Given the description of an element on the screen output the (x, y) to click on. 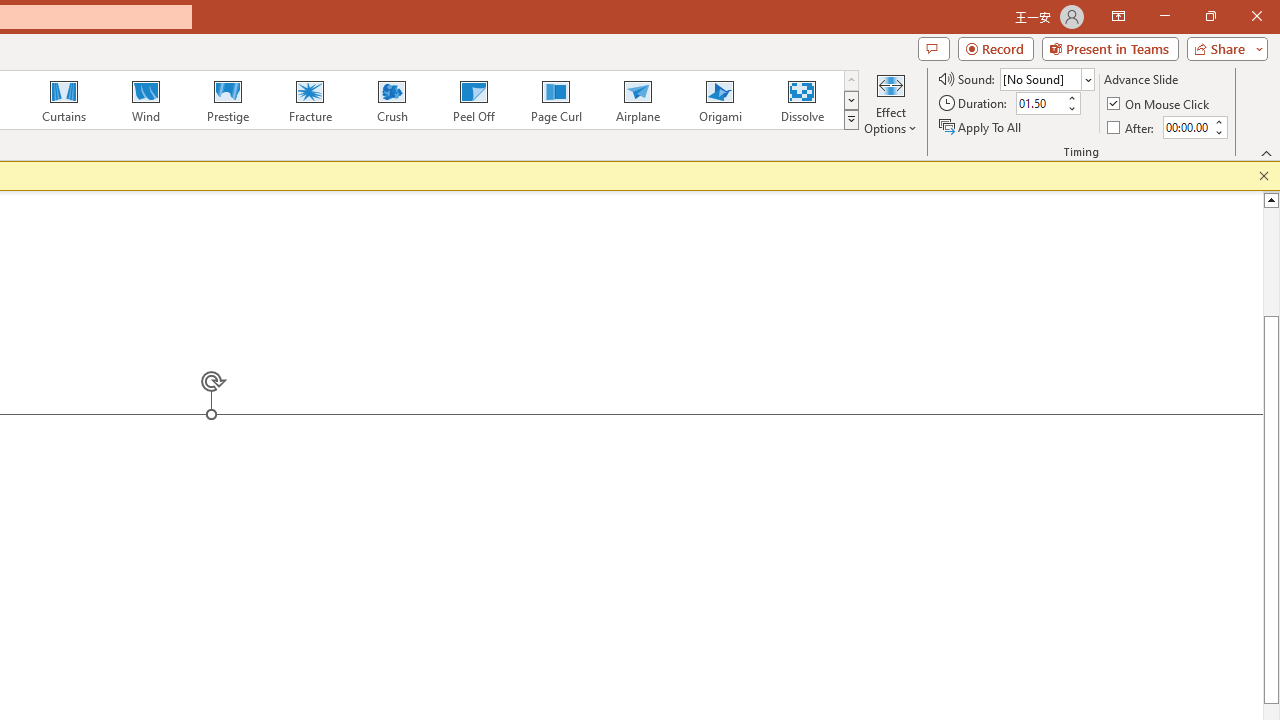
Curtains (63, 100)
Apply To All (981, 126)
Dissolve (802, 100)
Prestige (227, 100)
After (1186, 127)
Airplane (637, 100)
On Mouse Click (1159, 103)
